Given the description of an element on the screen output the (x, y) to click on. 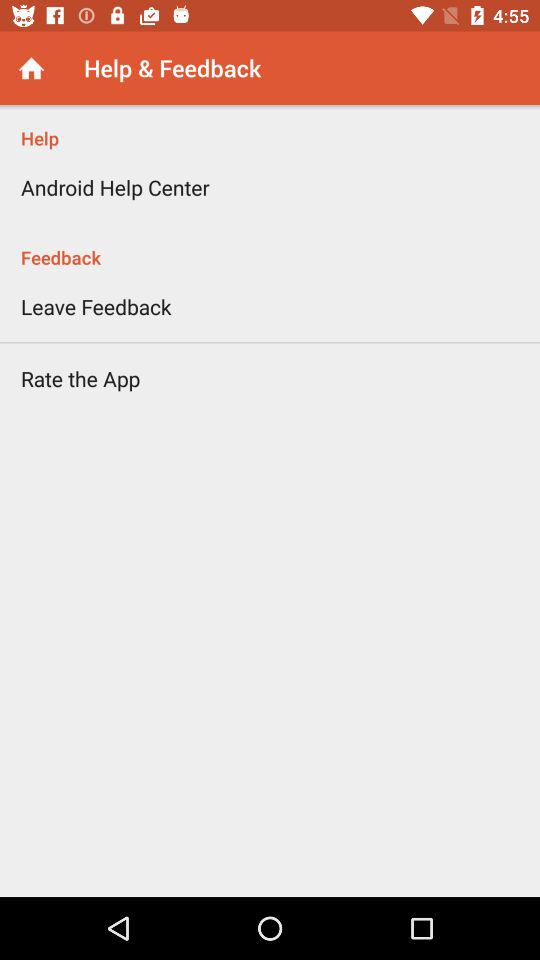
go to home (31, 68)
